Given the description of an element on the screen output the (x, y) to click on. 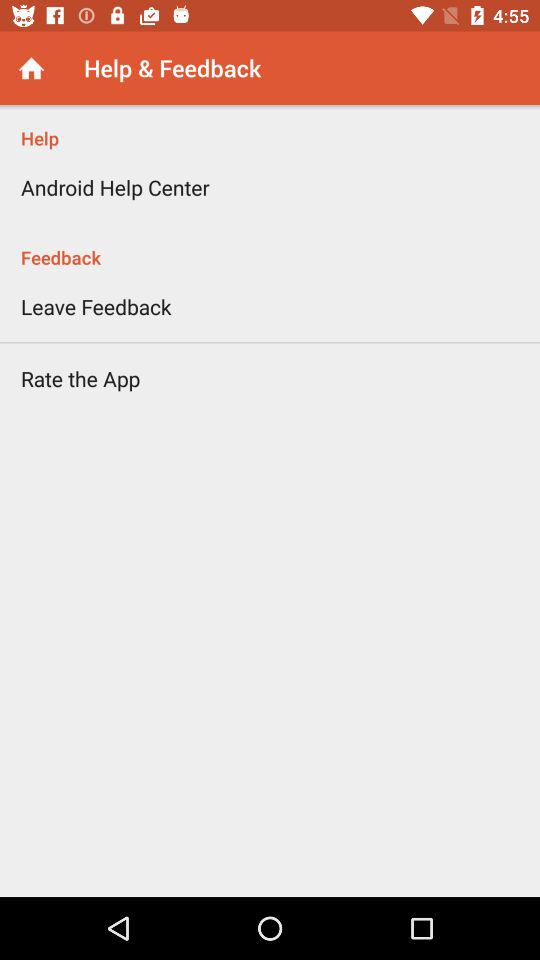
go to home (31, 68)
